Given the description of an element on the screen output the (x, y) to click on. 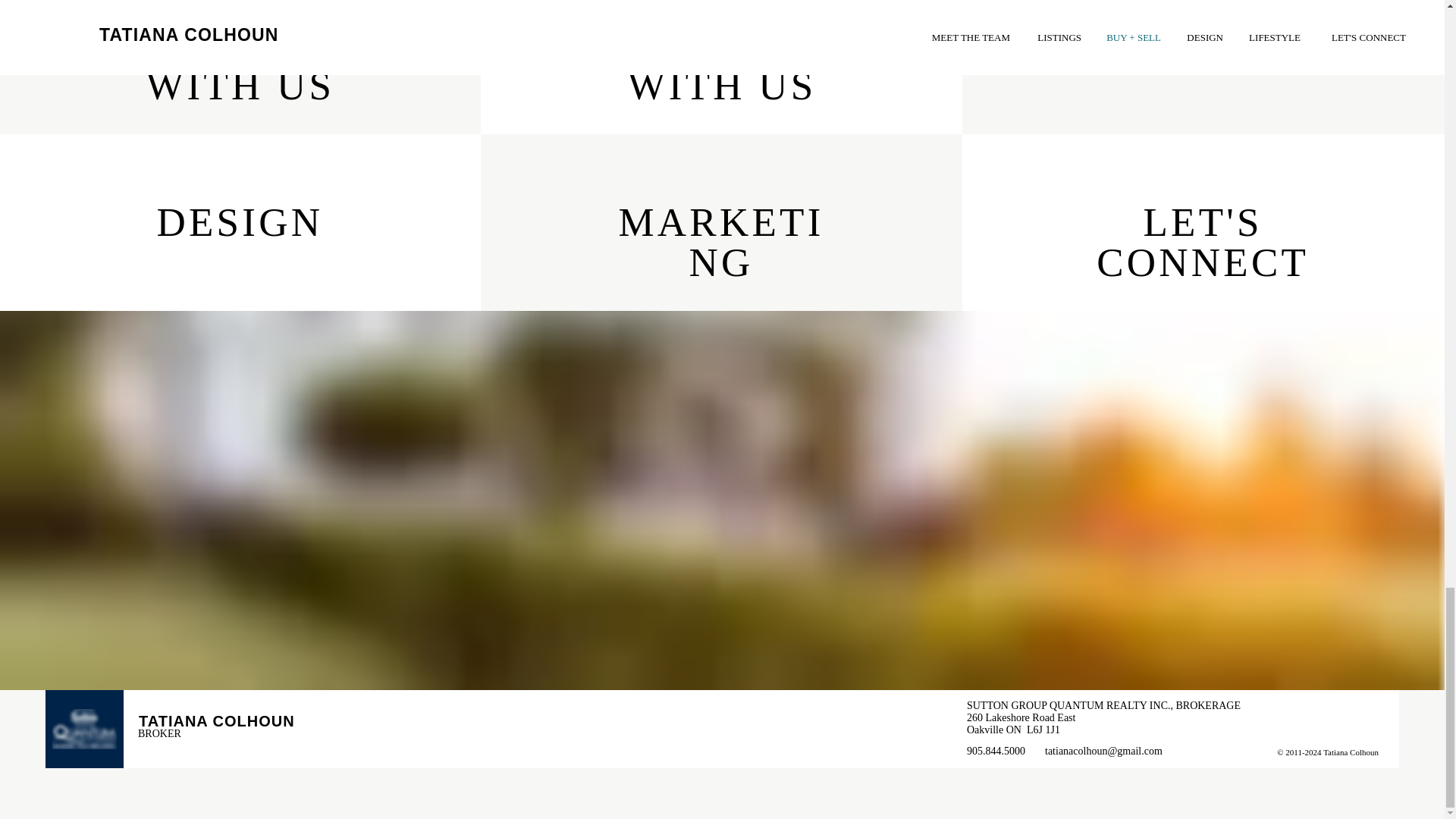
LET'S CONNECT (1202, 241)
MARKETING (720, 241)
TATIANA COLHOUN (216, 720)
BUY WITH US (239, 65)
Sutton Quantum (84, 729)
DESIGN (239, 221)
LISTINGS (1202, 45)
SELL WITH US (721, 65)
905.844.5000  (996, 750)
